Given the description of an element on the screen output the (x, y) to click on. 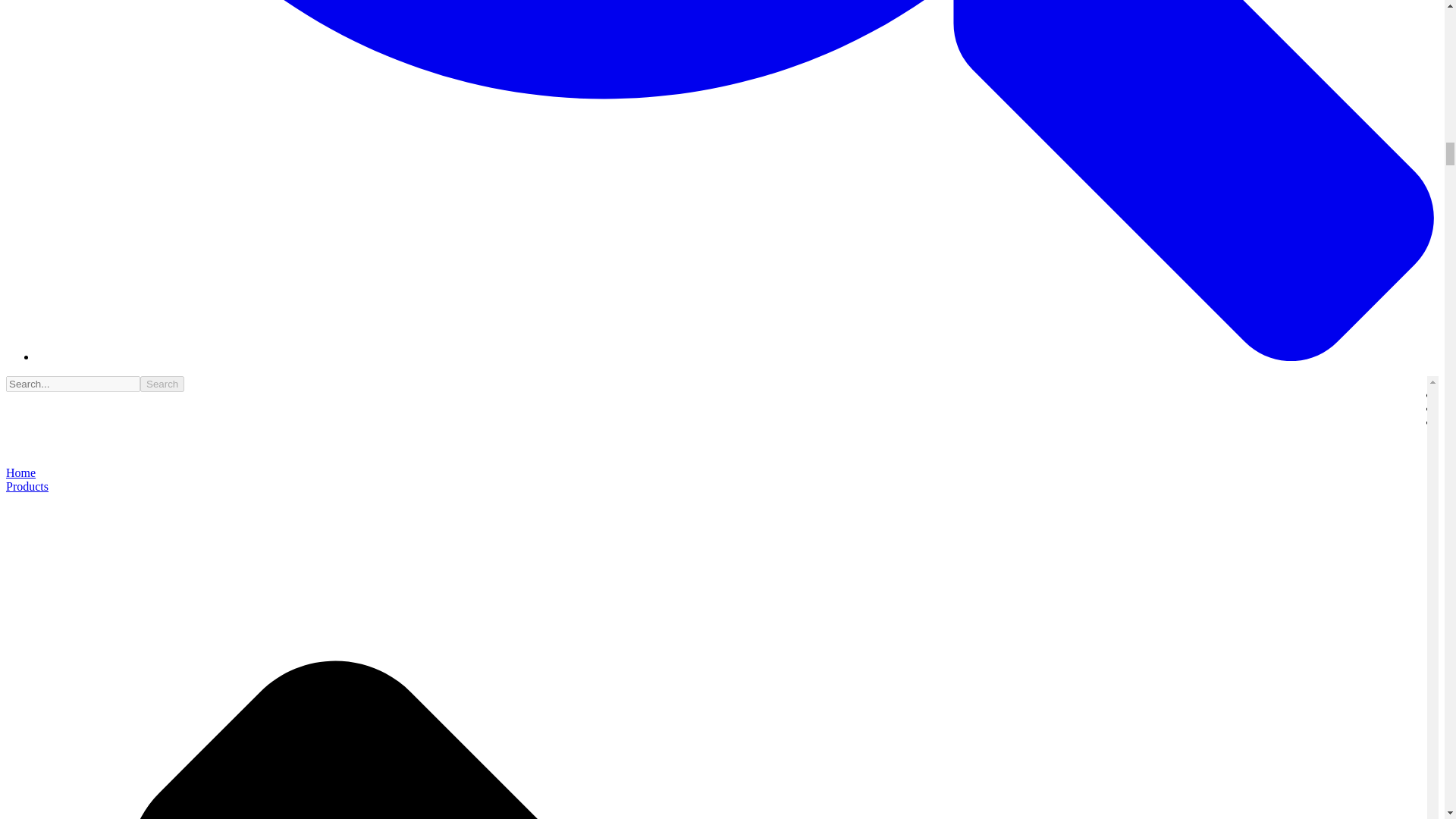
Home (19, 472)
Search (161, 383)
Products (26, 486)
